Given the description of an element on the screen output the (x, y) to click on. 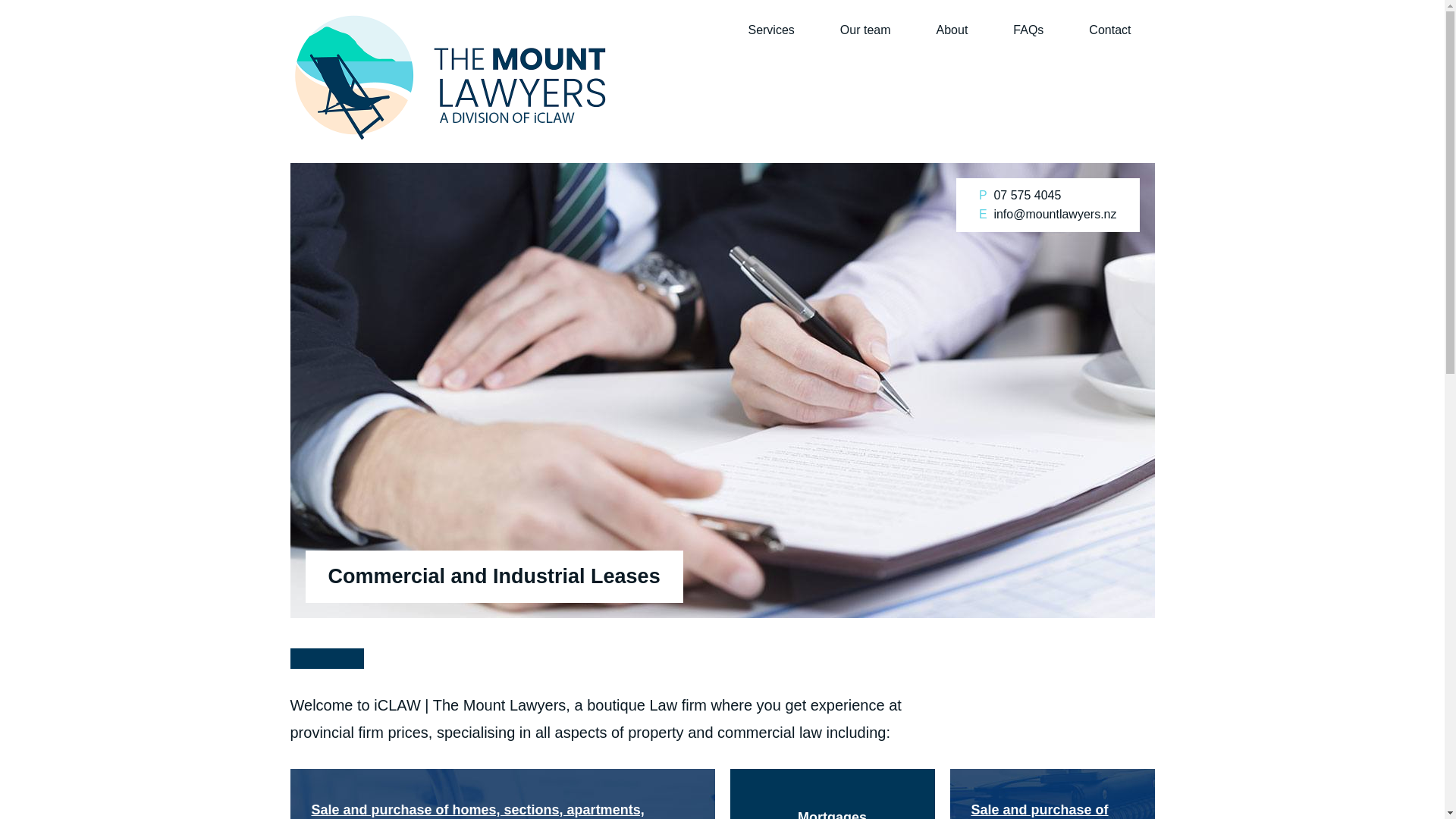
Our team (865, 30)
Contact (1109, 30)
FAQs (1027, 30)
Contact (1109, 30)
Our team (865, 30)
Mortgages (831, 794)
About (952, 30)
Services (770, 30)
FAQs (1027, 30)
About (952, 30)
Sale and purchase of businesses (1051, 794)
Services (770, 30)
